Given the description of an element on the screen output the (x, y) to click on. 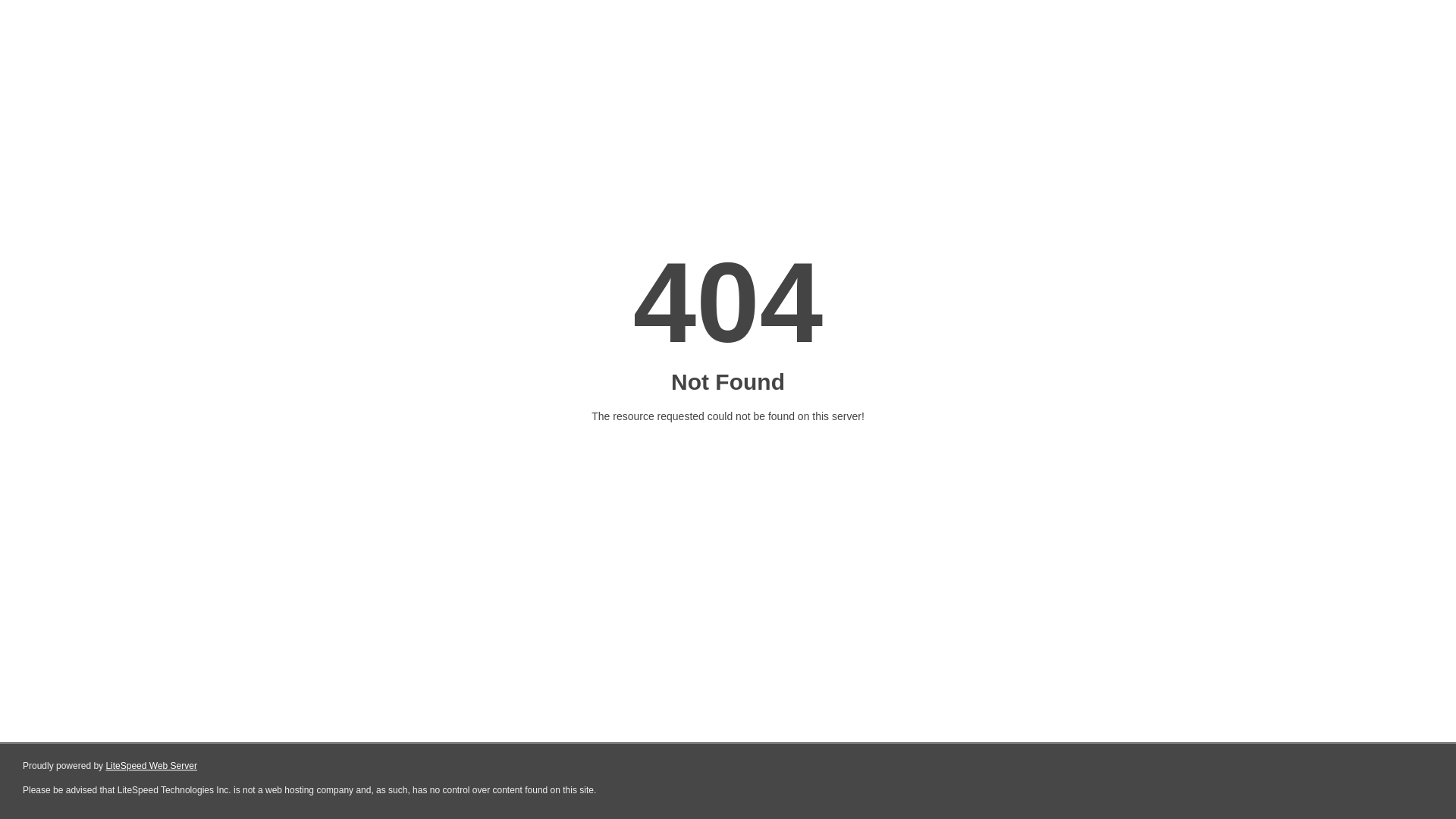
LiteSpeed Web Server Element type: text (151, 765)
